Given the description of an element on the screen output the (x, y) to click on. 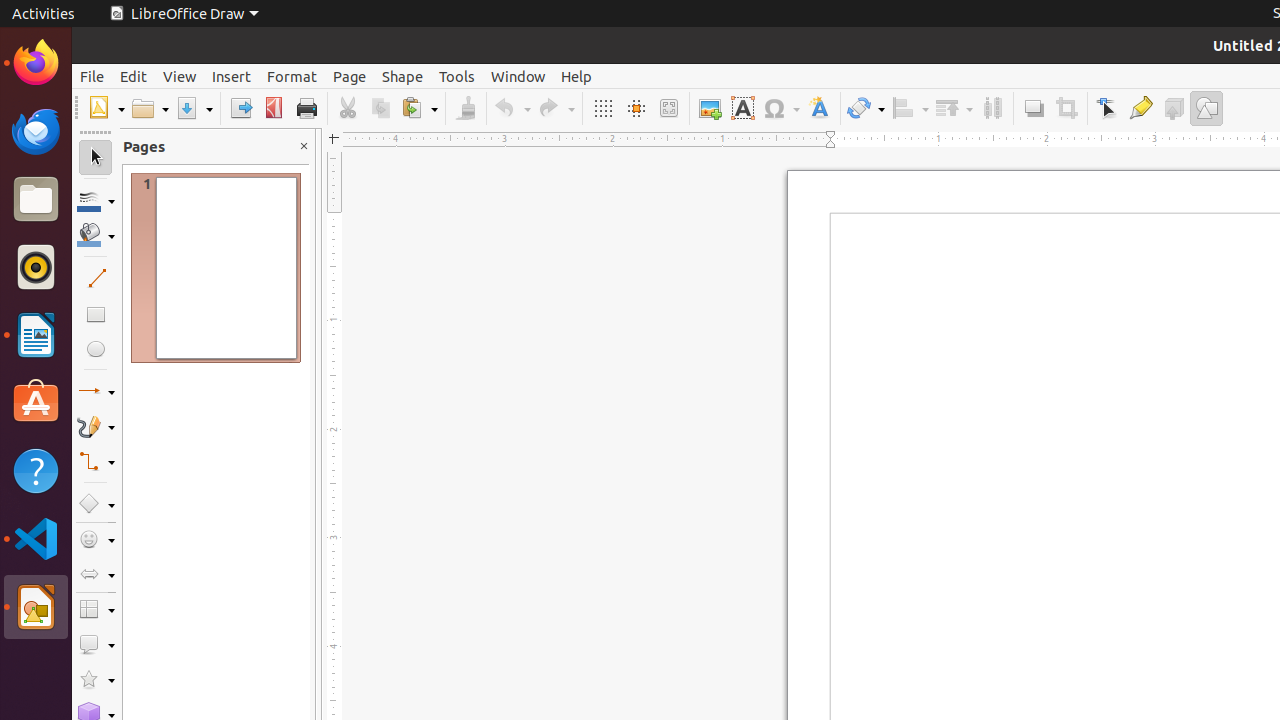
Flowchart Shapes Element type: push-button (96, 609)
Basic Shapes Element type: push-button (96, 504)
Arrow Shapes Element type: push-button (96, 574)
Shadow Element type: toggle-button (1033, 108)
Thunderbird Mail Element type: push-button (36, 131)
